Given the description of an element on the screen output the (x, y) to click on. 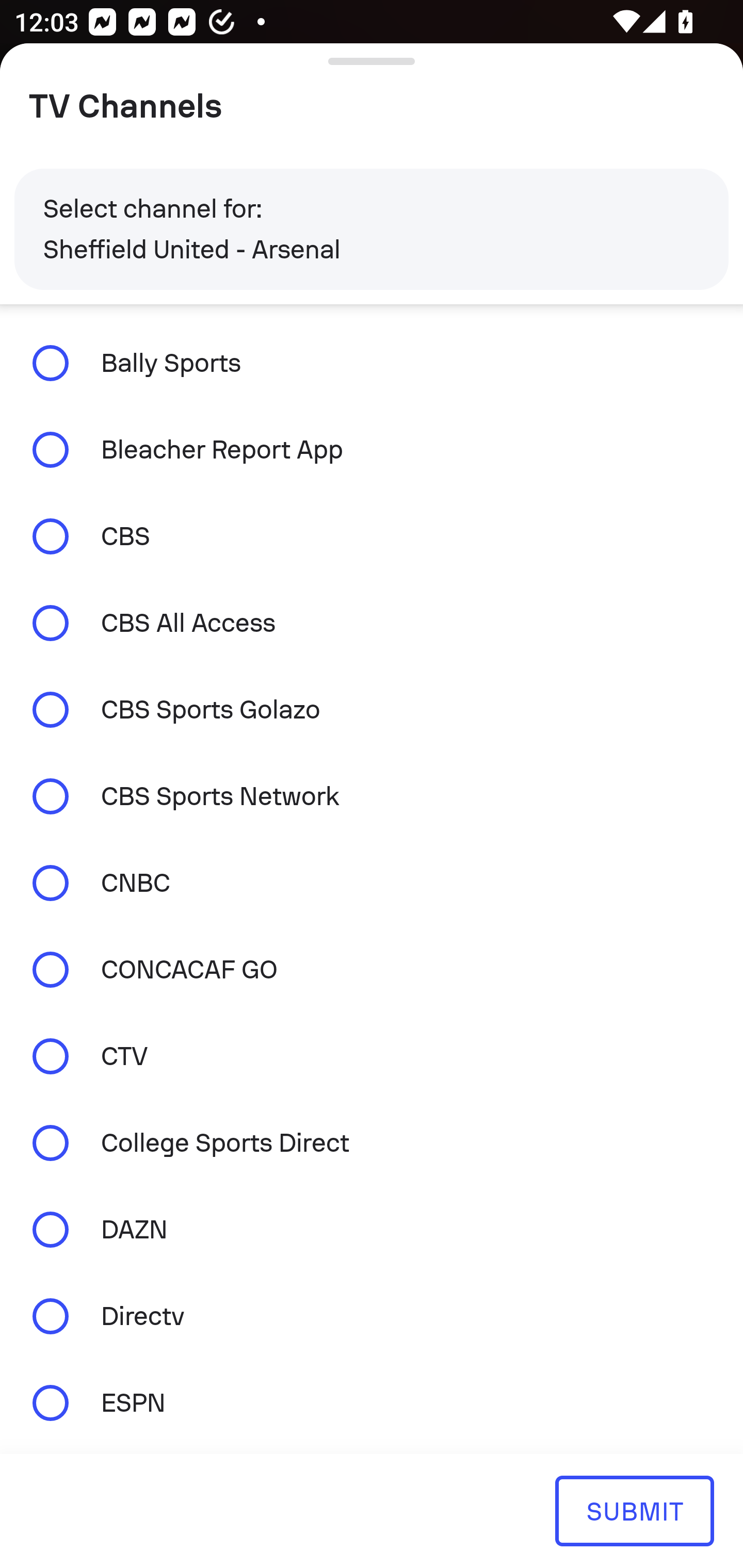
Bally Sports (371, 362)
Bleacher Report App (371, 449)
CBS (371, 536)
CBS All Access (371, 623)
CBS Sports Golazo (371, 709)
CBS Sports Network (371, 796)
CNBC (371, 883)
CONCACAF GO (371, 969)
CTV (371, 1055)
College Sports Direct (371, 1142)
DAZN (371, 1229)
Directv (371, 1316)
ESPN (371, 1402)
SUBMIT (634, 1510)
